Given the description of an element on the screen output the (x, y) to click on. 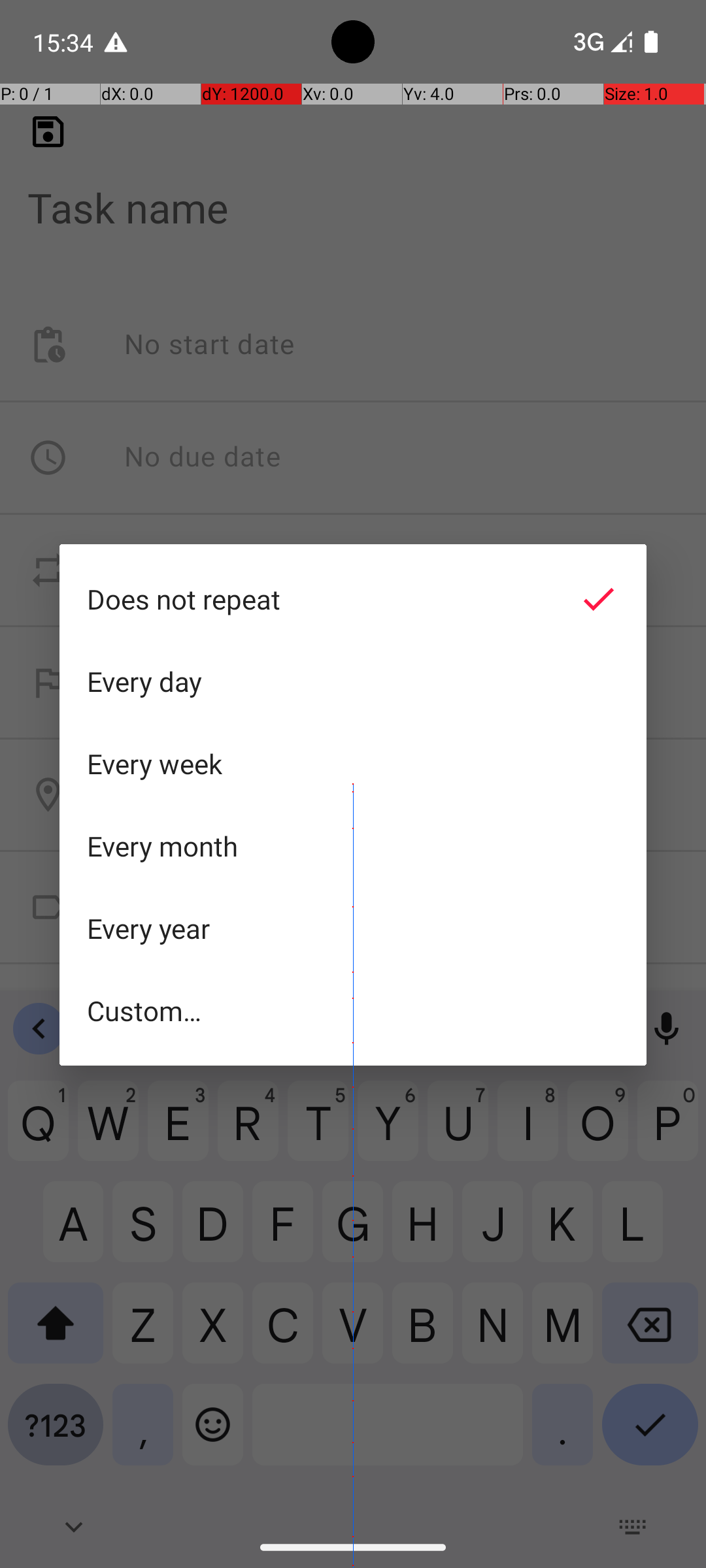
Every day Element type: android.widget.CheckedTextView (352, 681)
Every week Element type: android.widget.CheckedTextView (352, 763)
Every month Element type: android.widget.CheckedTextView (352, 845)
Every year Element type: android.widget.CheckedTextView (352, 928)
Custom… Element type: android.widget.CheckedTextView (352, 1010)
